Given the description of an element on the screen output the (x, y) to click on. 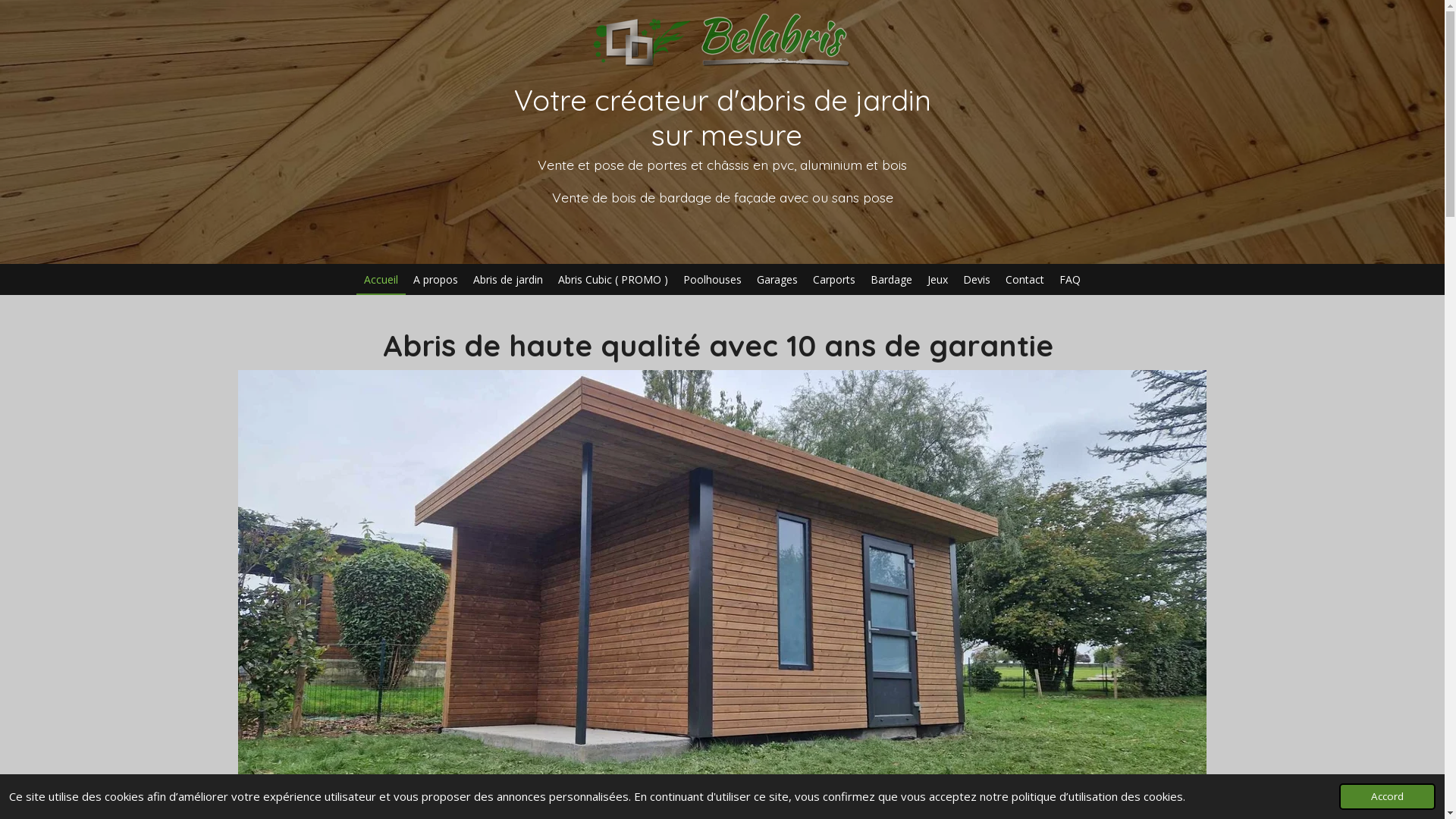
Contact Element type: text (1024, 278)
FAQ Element type: text (1069, 278)
Carports Element type: text (833, 278)
Bardage Element type: text (890, 278)
A propos Element type: text (435, 278)
Garages Element type: text (777, 278)
Accueil Element type: text (380, 278)
Abris Cubic ( PROMO ) Element type: text (612, 278)
Belabris Element type: hover (721, 37)
Devis Element type: text (976, 278)
Accord Element type: text (1387, 796)
Jeux Element type: text (937, 278)
Abris de jardin Element type: text (507, 278)
Poolhouses Element type: text (712, 278)
